Given the description of an element on the screen output the (x, y) to click on. 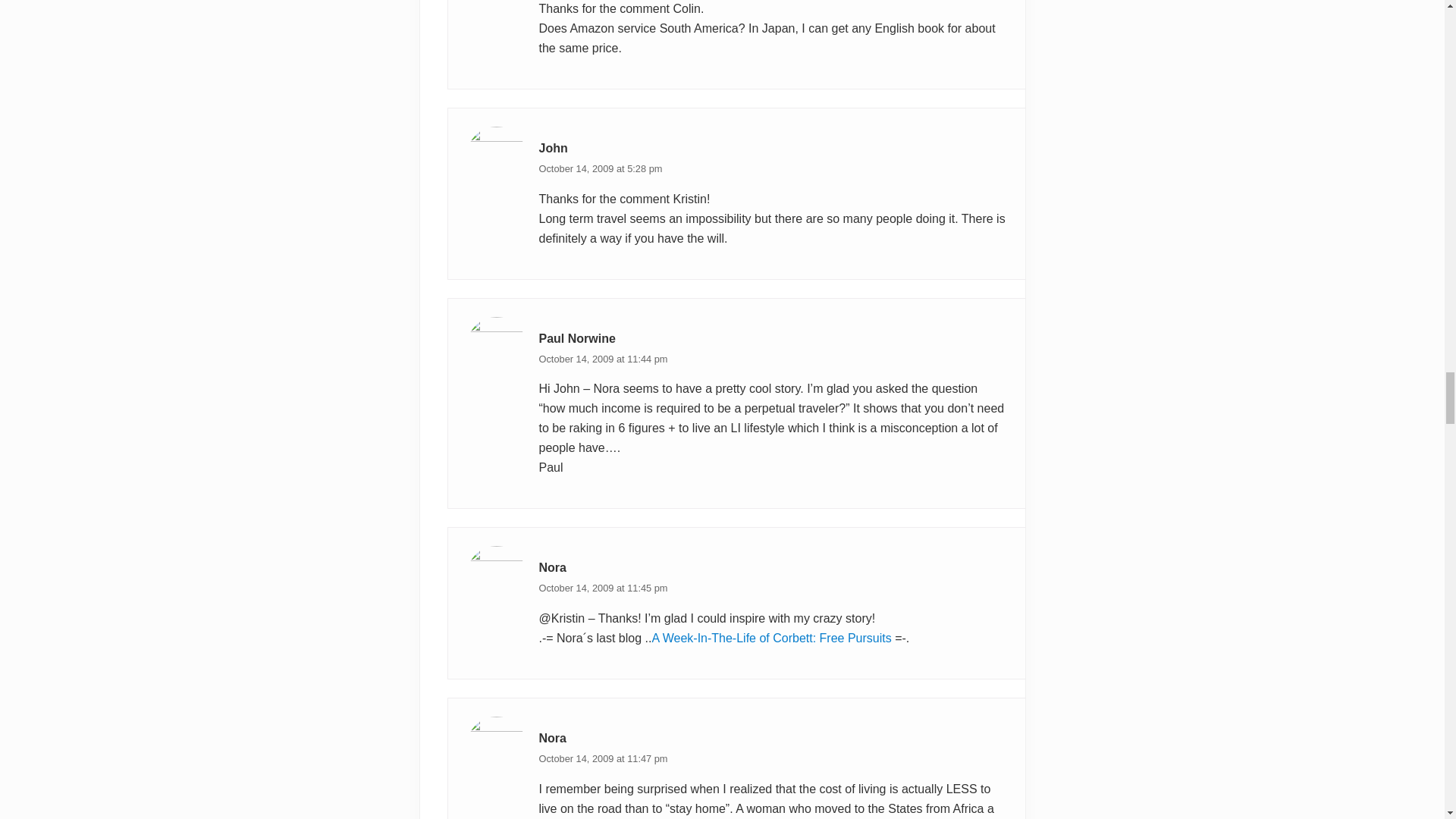
Nora (552, 567)
October 14, 2009 at 5:28 pm (600, 168)
October 14, 2009 at 11:44 pm (602, 358)
Nora (552, 738)
October 14, 2009 at 11:45 pm (602, 587)
A Week-In-The-Life of Corbett: Free Pursuits (770, 637)
John (552, 147)
